Given the description of an element on the screen output the (x, y) to click on. 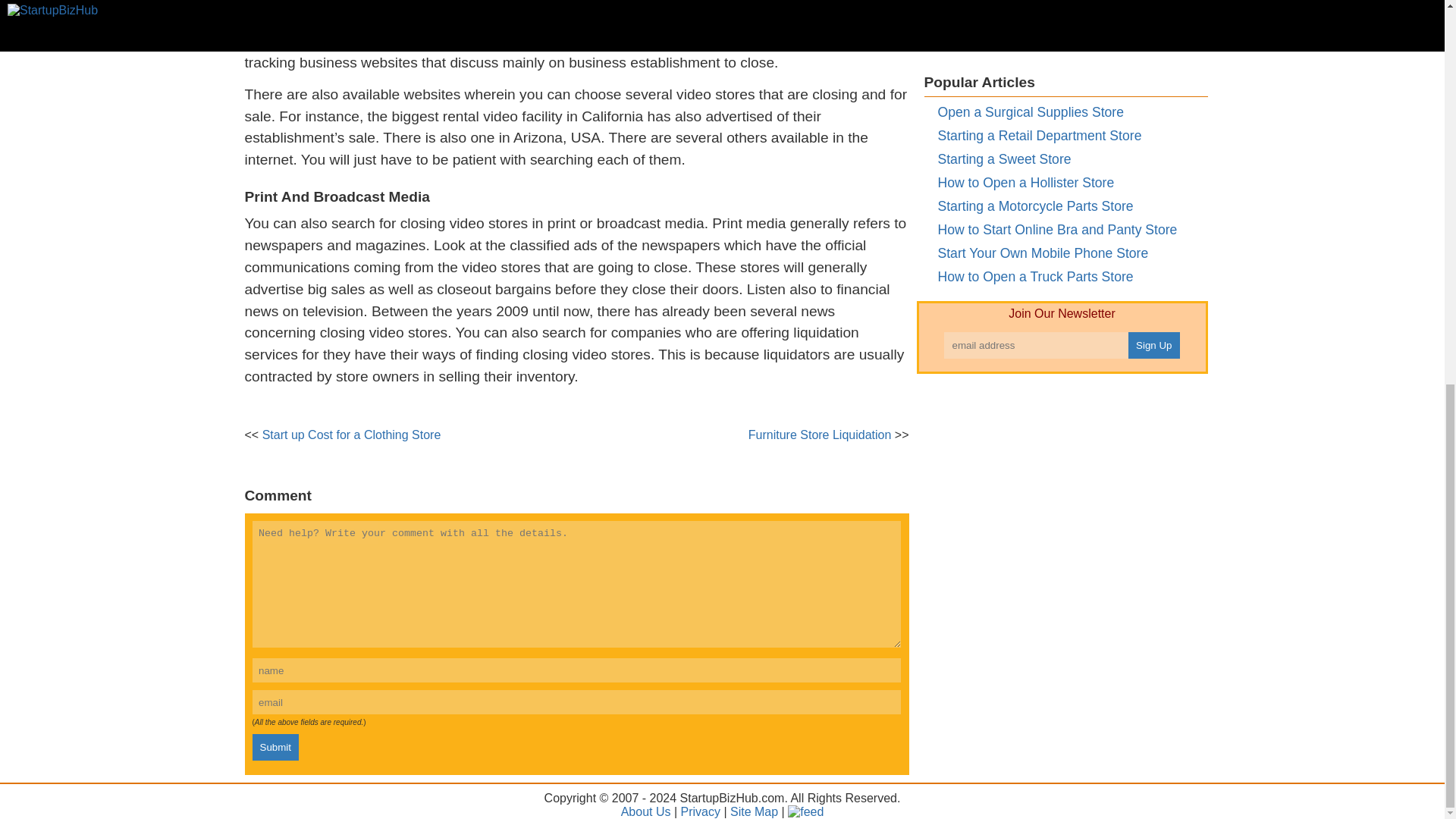
Furniture Store Liquidation (819, 434)
Business Insurance Information (1030, 20)
Starting a Retail Department Store (1039, 135)
Start up Cost for a Clothing Store (351, 434)
Submit (274, 746)
Open a Surgical Supplies Store (1029, 111)
Professional Career Opportunities (1037, 2)
Sign Up (1153, 345)
Instructor Guides (988, 44)
Submit (274, 746)
